Given the description of an element on the screen output the (x, y) to click on. 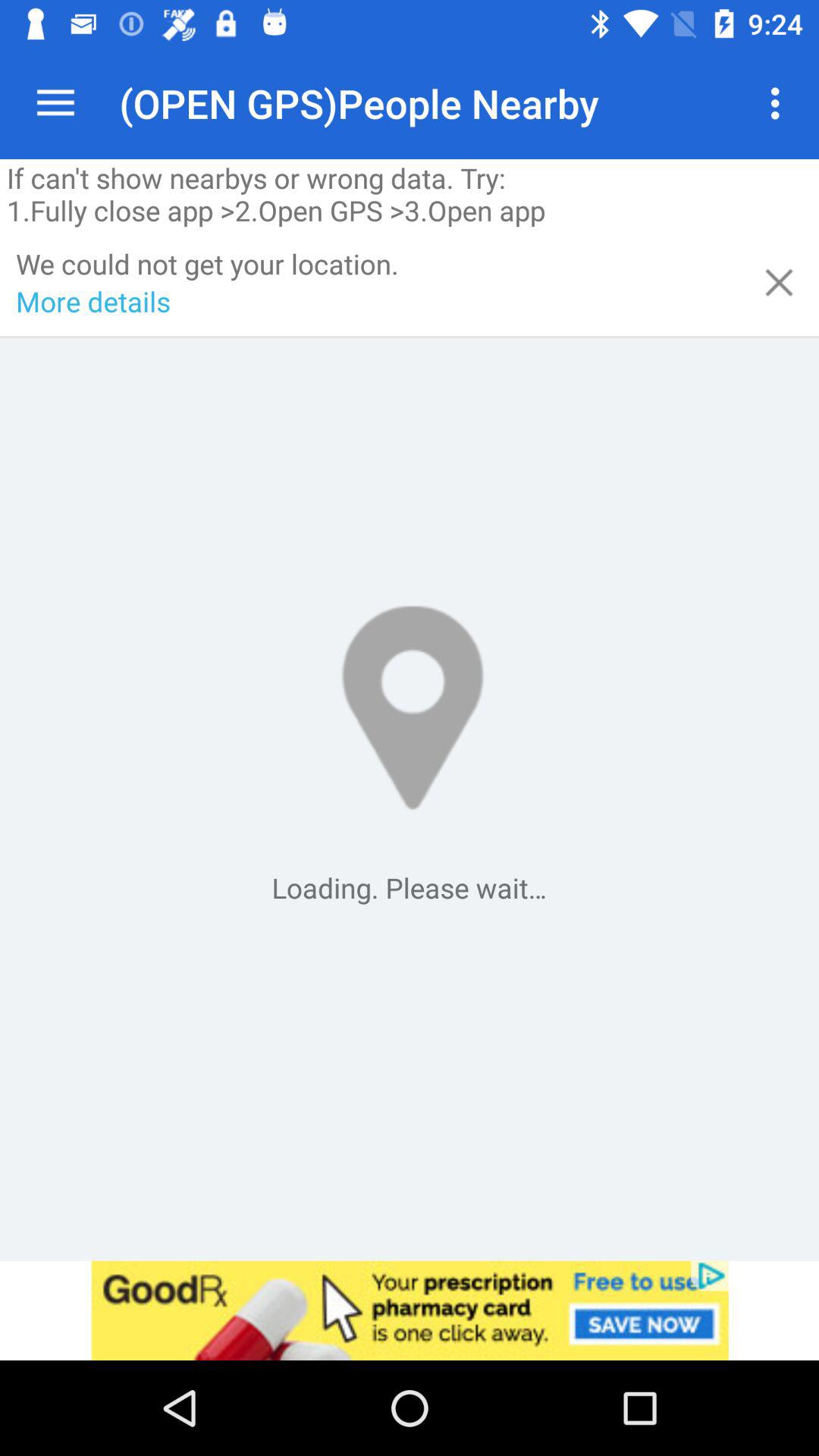
close the location (779, 282)
